Given the description of an element on the screen output the (x, y) to click on. 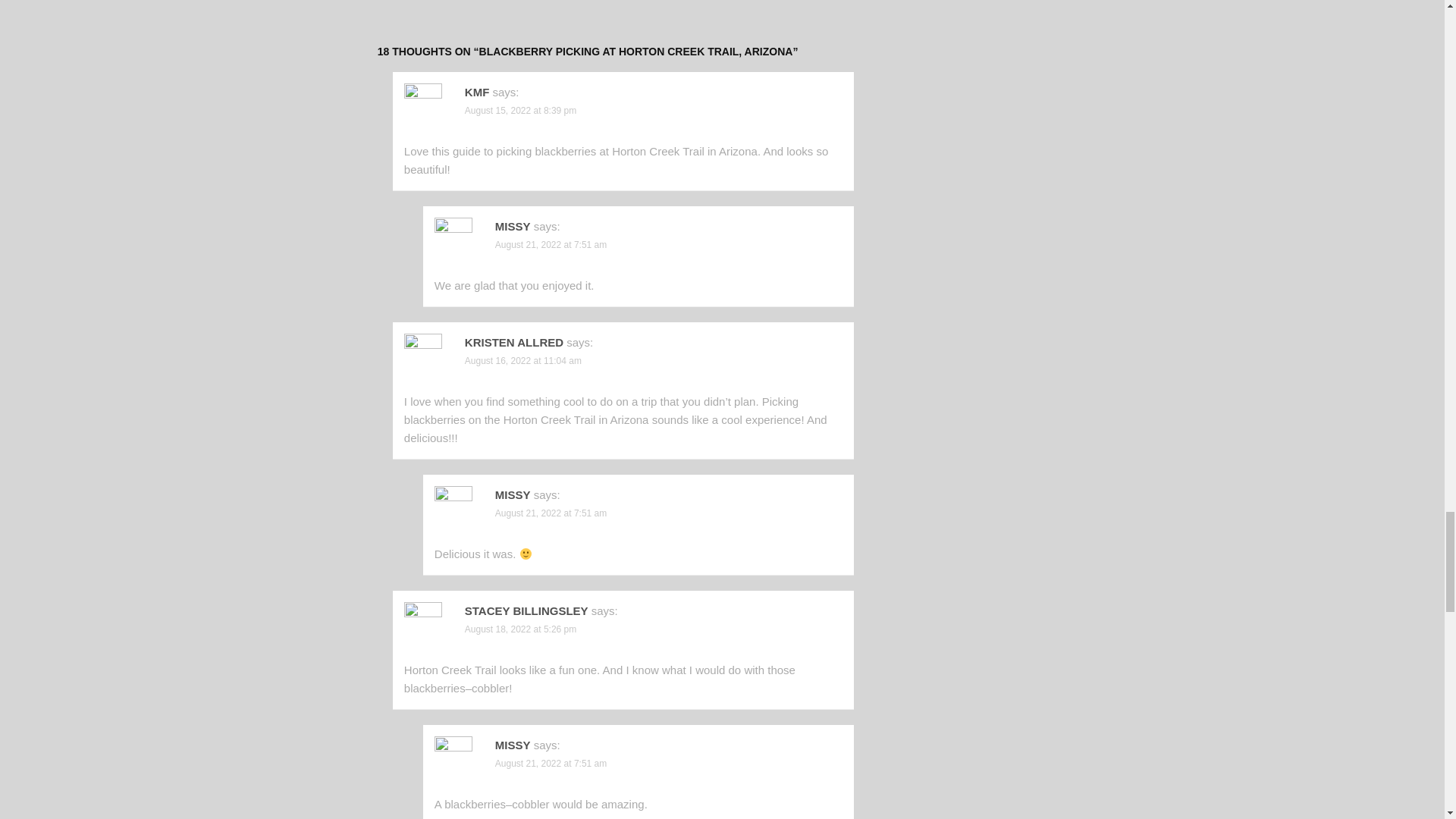
August 21, 2022 at 7:51 am (551, 244)
August 21, 2022 at 7:51 am (551, 512)
August 21, 2022 at 7:51 am (551, 763)
August 15, 2022 at 8:39 pm (520, 110)
August 16, 2022 at 11:04 am (522, 360)
August 18, 2022 at 5:26 pm (520, 629)
